Given the description of an element on the screen output the (x, y) to click on. 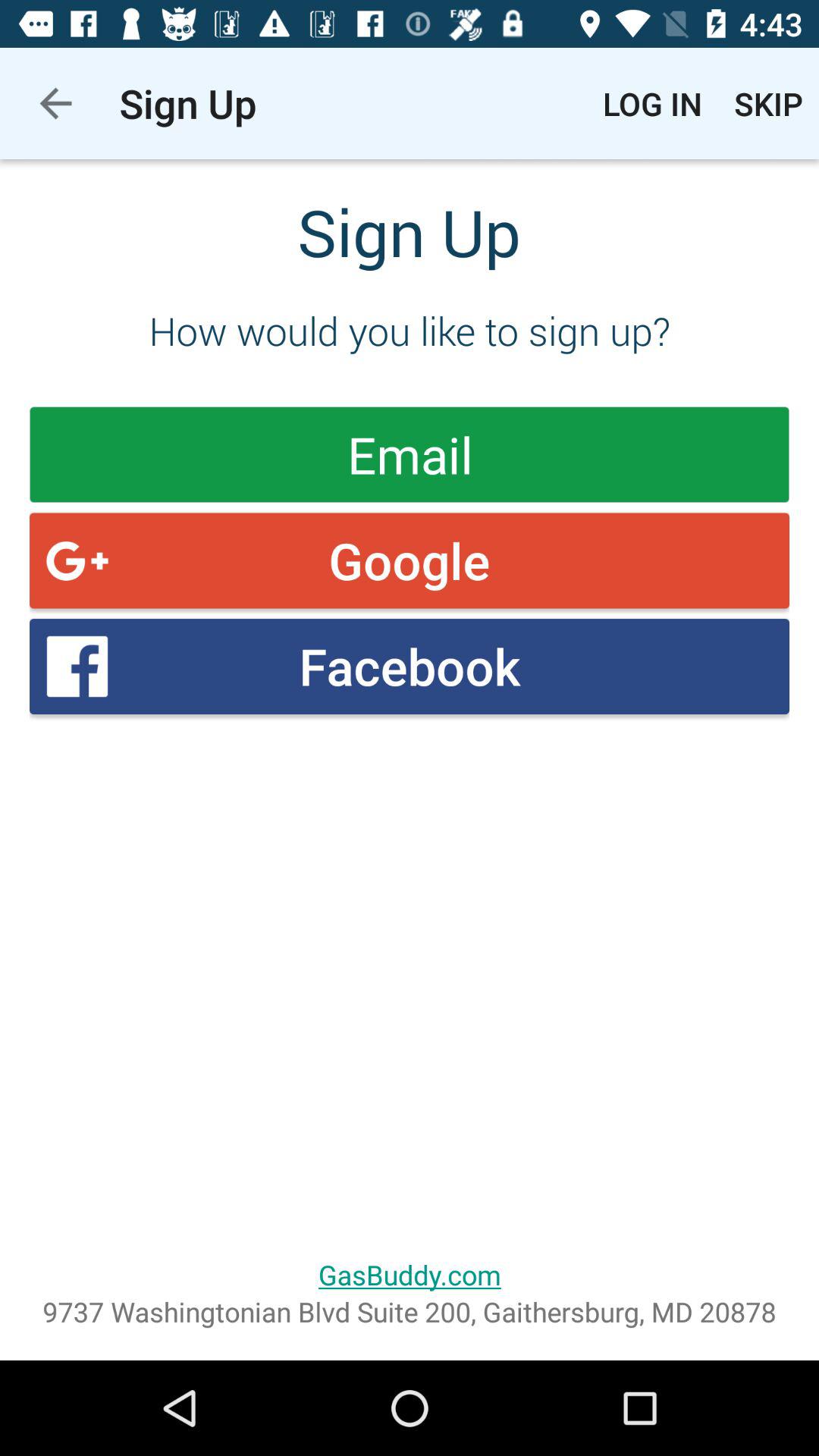
launch the item next to the sign up icon (652, 103)
